Given the description of an element on the screen output the (x, y) to click on. 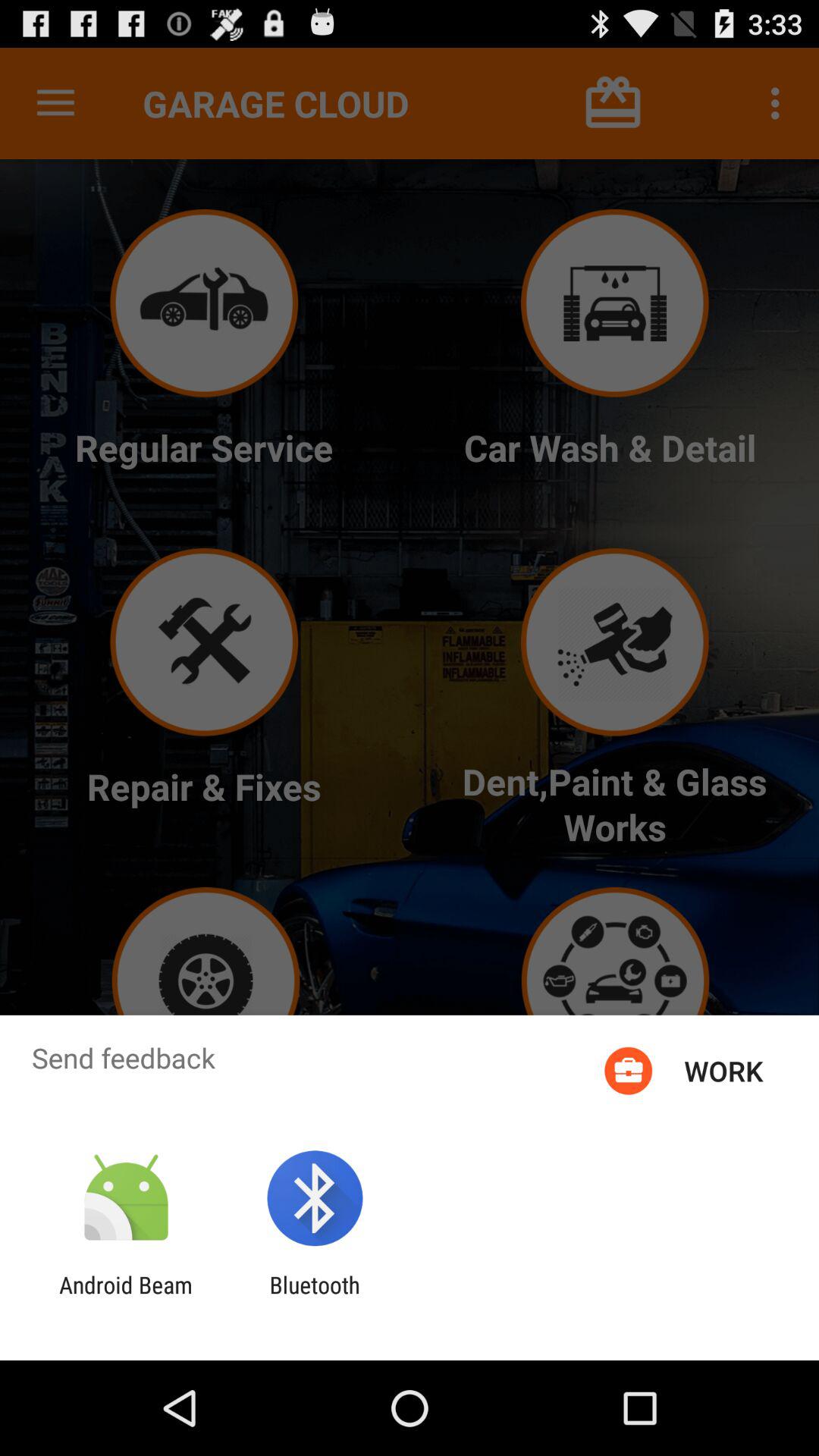
jump to the bluetooth app (314, 1298)
